Given the description of an element on the screen output the (x, y) to click on. 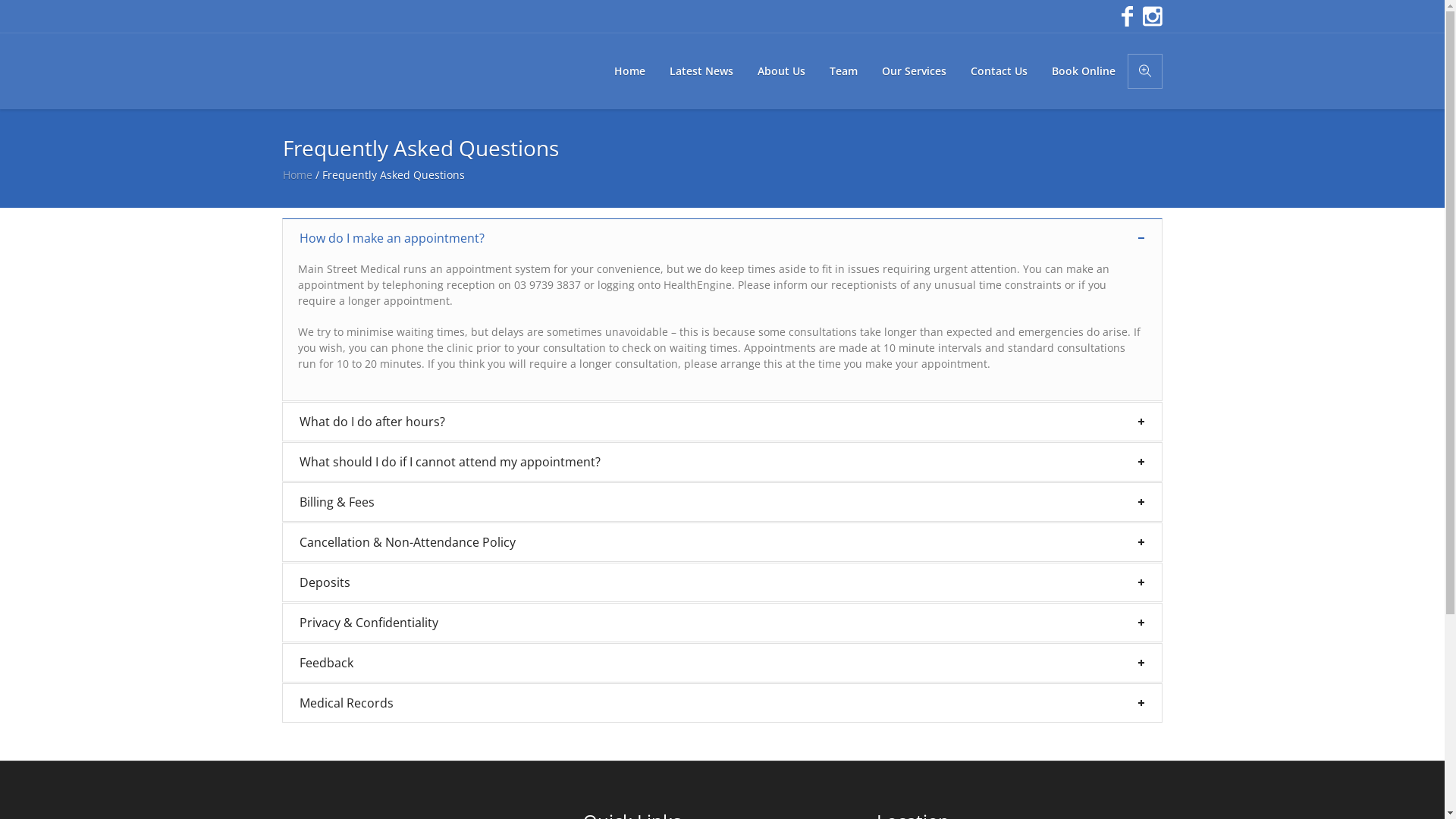
How do I make an appointment? Element type: text (721, 238)
Facebook Element type: hover (1125, 16)
About Us Element type: text (780, 71)
Cancellation & Non-Attendance Policy Element type: text (721, 542)
What should I do if I cannot attend my appointment? Element type: text (721, 461)
Medical Records Element type: text (721, 702)
Instagram Element type: hover (1149, 16)
Contact Us Element type: text (998, 71)
Home Element type: text (296, 173)
Latest News Element type: text (700, 71)
What do I do after hours? Element type: text (721, 421)
Privacy & Confidentiality Element type: text (721, 622)
Billing & Fees Element type: text (721, 501)
Home Element type: text (629, 71)
Our Services Element type: text (913, 71)
Book Online Element type: text (1082, 71)
Deposits Element type: text (721, 582)
Team Element type: text (843, 71)
Feedback Element type: text (721, 662)
